Given the description of an element on the screen output the (x, y) to click on. 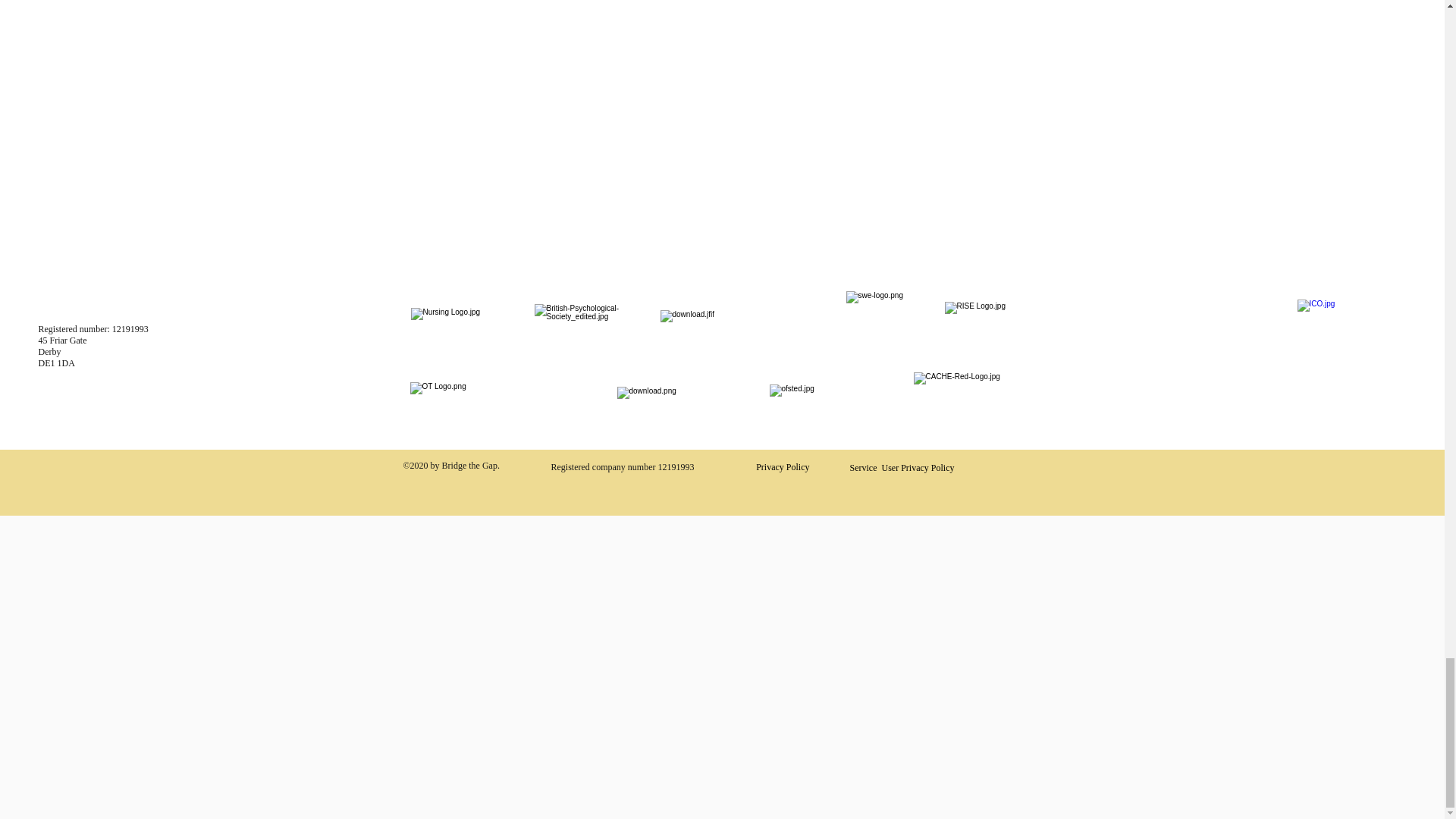
Privacy Policy (782, 466)
Service  User Privacy Policy (902, 467)
MHFA.png (884, 330)
MHFA.png (1341, 343)
